Given the description of an element on the screen output the (x, y) to click on. 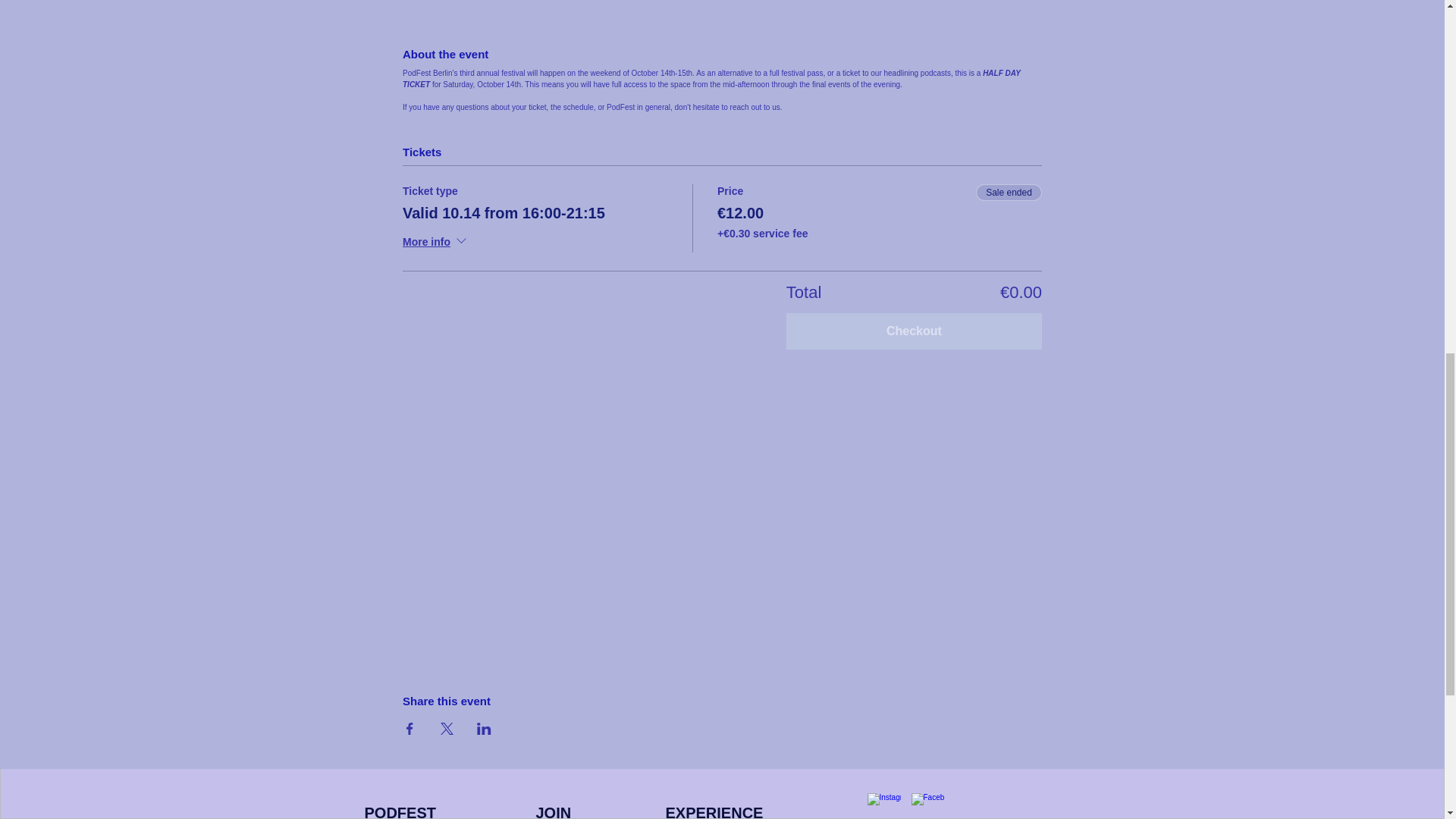
PODFEST BERLIN (399, 811)
Checkout (914, 330)
EXPERIENCE (713, 811)
More info (435, 242)
JOIN (552, 811)
